Given the description of an element on the screen output the (x, y) to click on. 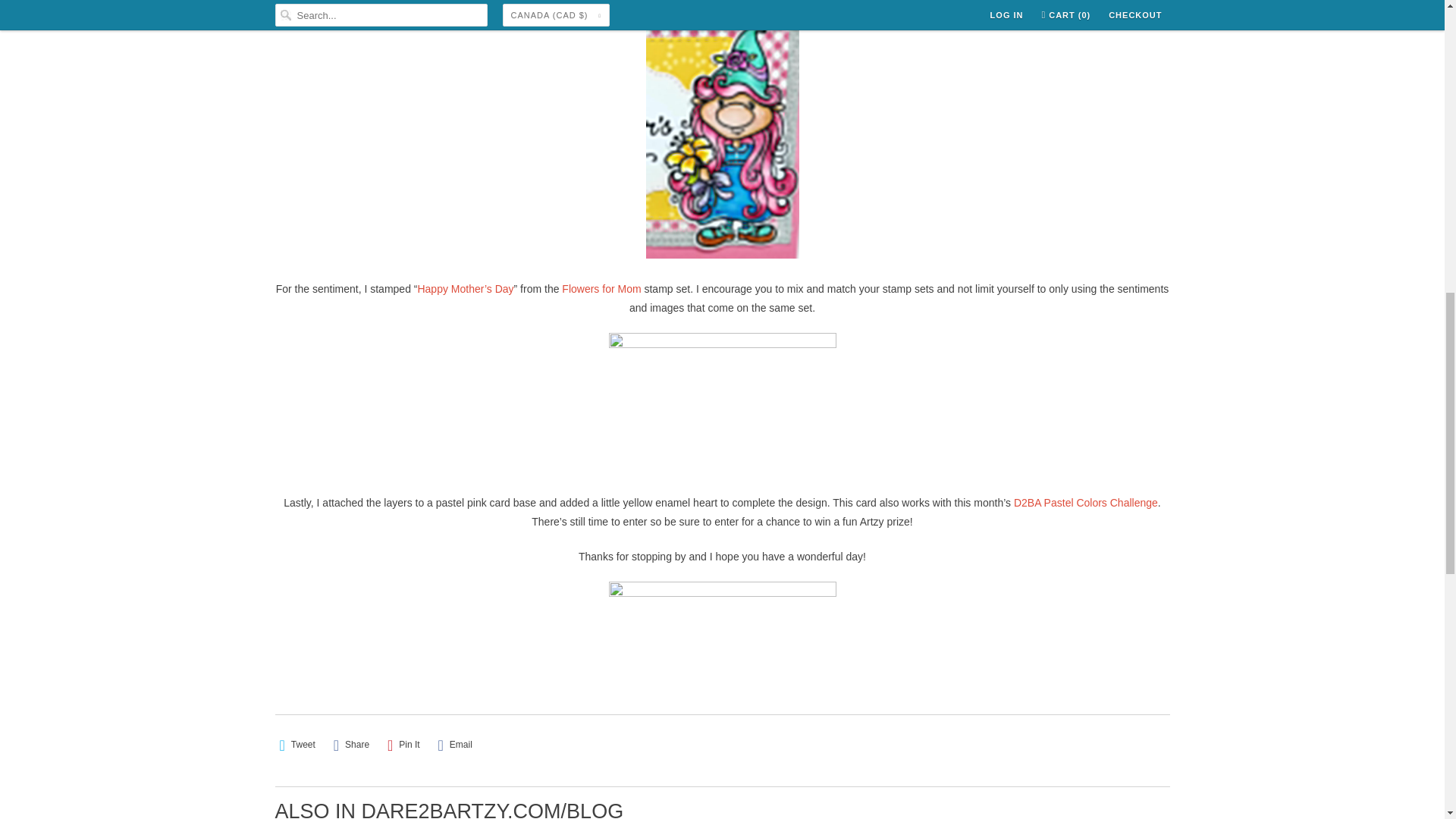
Share this on Facebook (351, 744)
Email this to a friend (455, 744)
Share this on Pinterest (403, 744)
Share this on Twitter (296, 744)
